Given the description of an element on the screen output the (x, y) to click on. 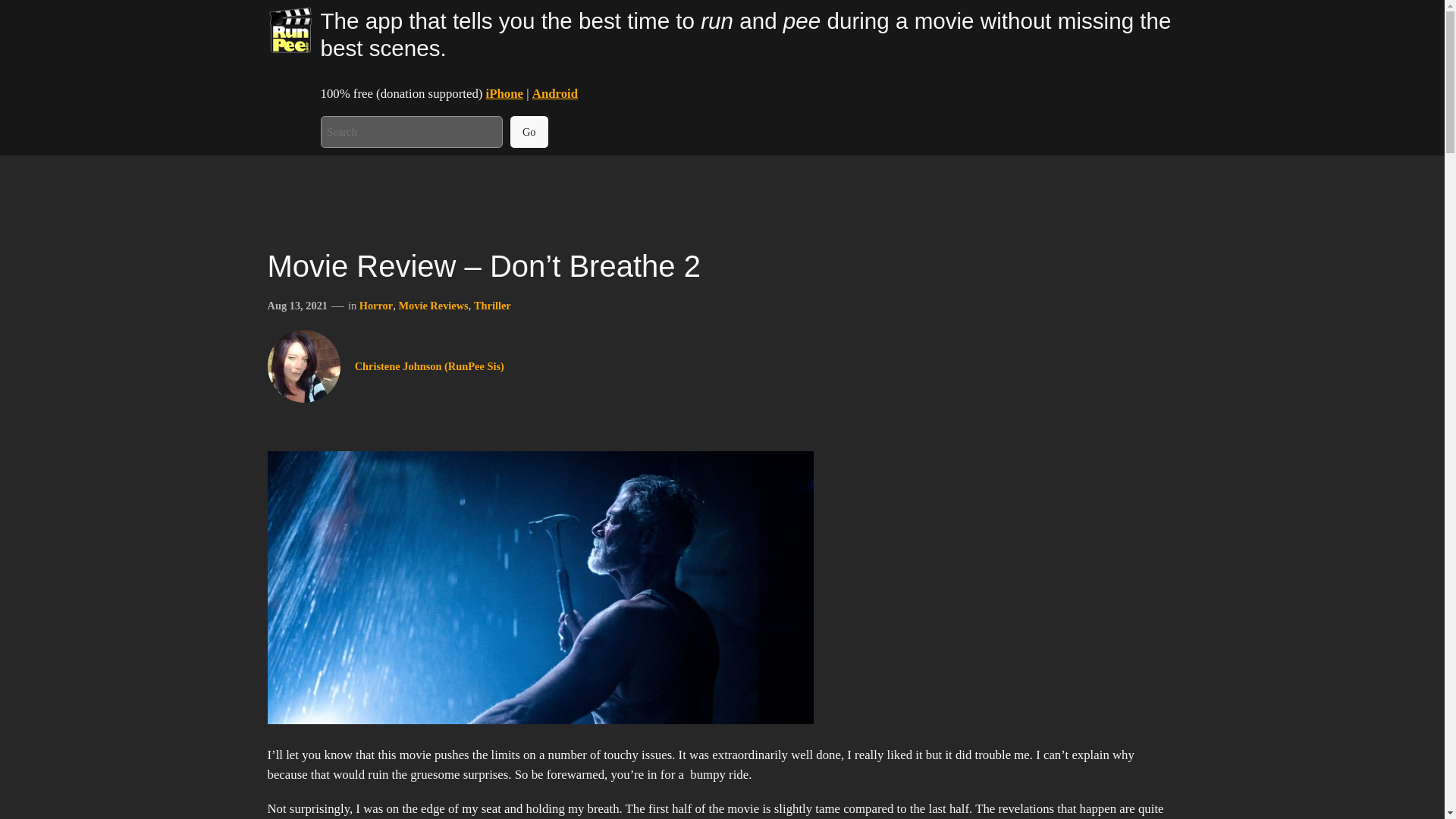
iPhone (504, 93)
Movie Reviews (432, 305)
Go (529, 132)
Android (555, 93)
Aug 13, 2021 (296, 305)
Thriller (492, 305)
Horror (376, 305)
